Given the description of an element on the screen output the (x, y) to click on. 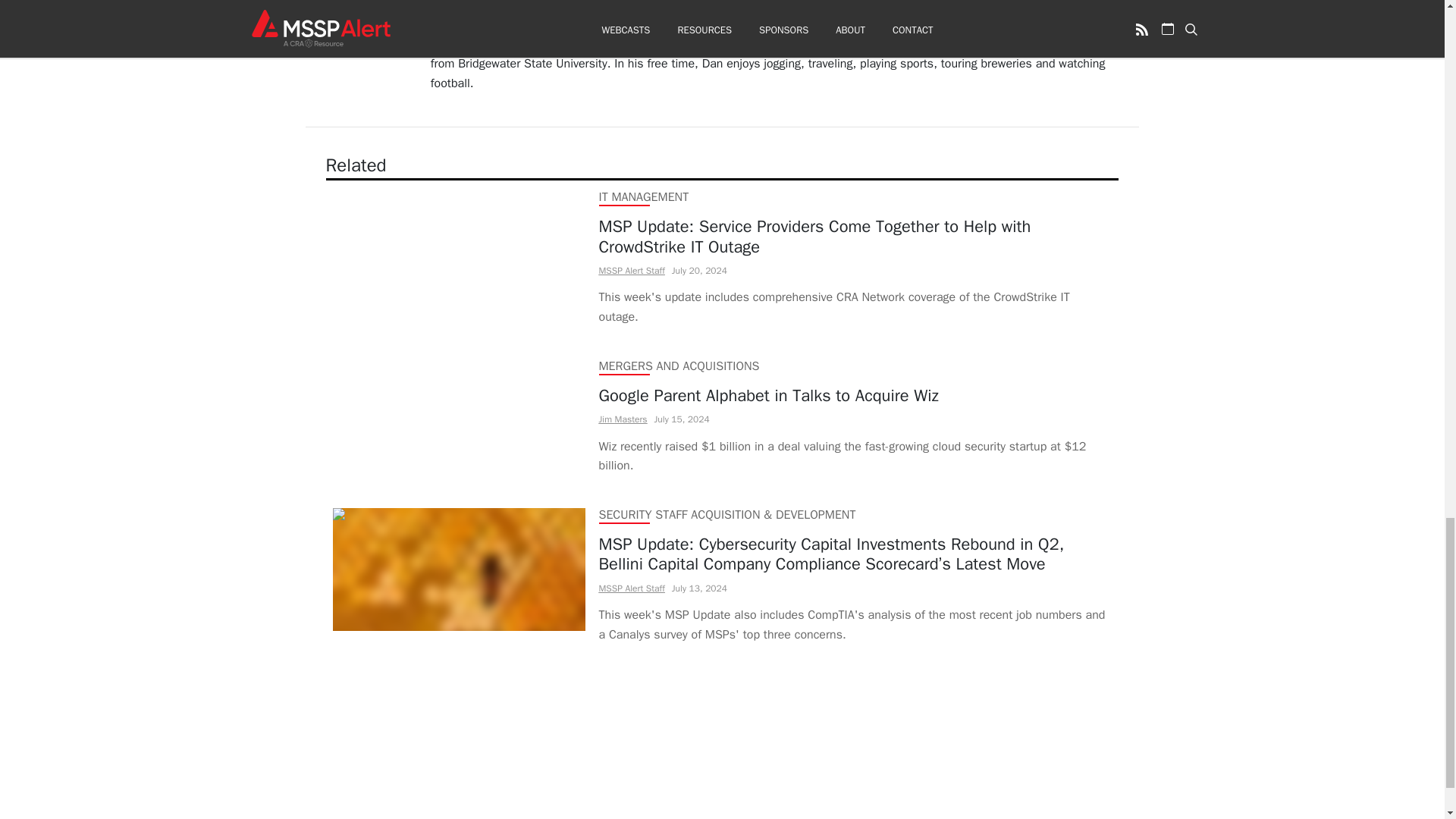
MSSP Alert Staff (631, 588)
IT MANAGEMENT (643, 196)
Google Parent Alphabet in Talks to Acquire Wiz (855, 395)
Dan Kobialka (465, 6)
Jim Masters (622, 419)
MSSP Alert Staff (631, 270)
MERGERS AND ACQUISITIONS (679, 365)
